Given the description of an element on the screen output the (x, y) to click on. 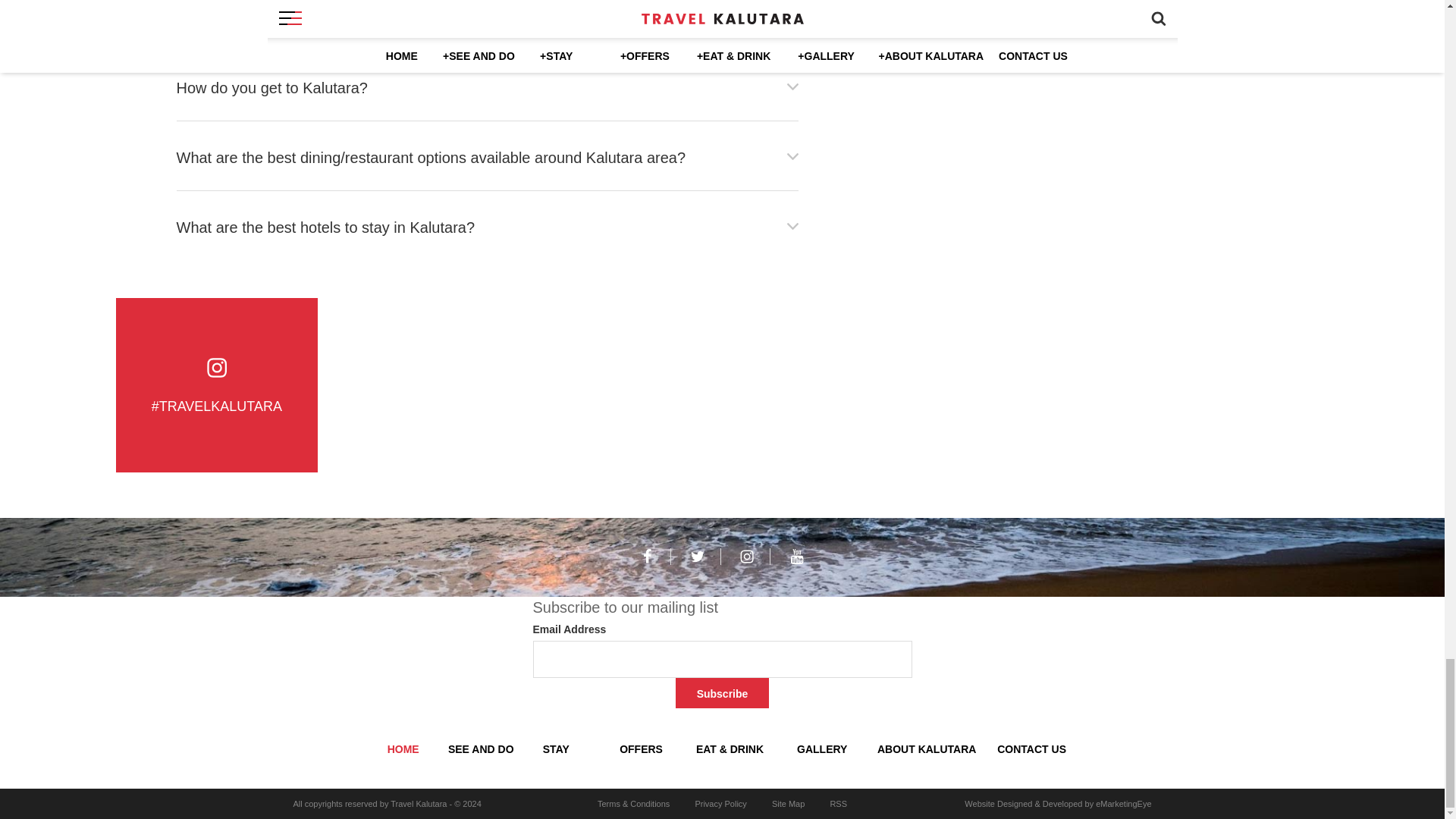
Subscribe (722, 693)
